Given the description of an element on the screen output the (x, y) to click on. 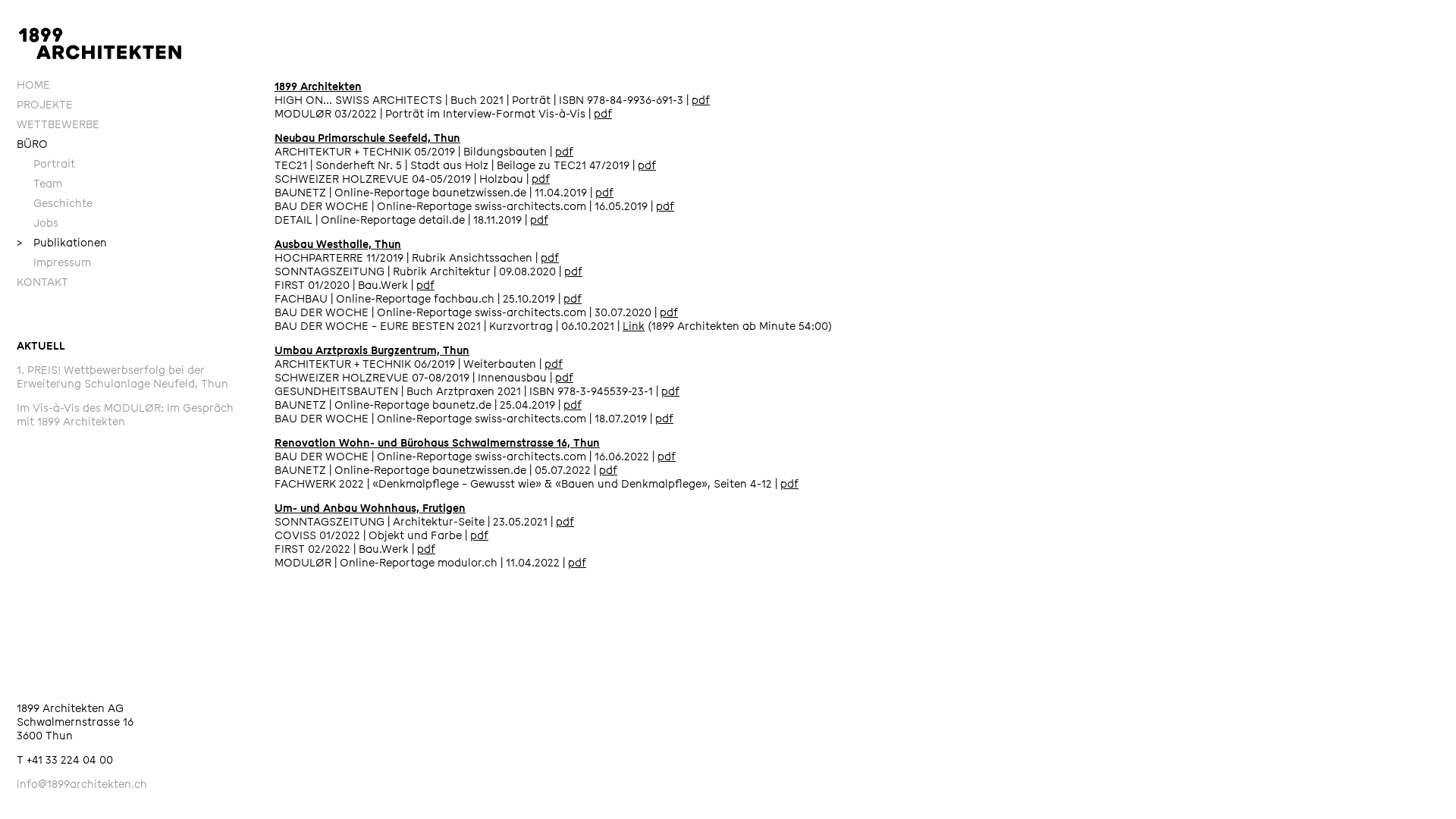
pdf Element type: text (666, 456)
info@1899architekten.ch Element type: text (81, 784)
Team Element type: text (137, 184)
pdf Element type: text (539, 219)
pdf Element type: text (540, 178)
pdf Element type: text (479, 535)
KONTAKT Element type: text (129, 282)
HOME Element type: text (129, 85)
Neubau Primarschule Seefeld, Thun Element type: text (367, 137)
1899 Architekten Element type: text (317, 86)
Geschichte Element type: text (137, 203)
pdf Element type: text (564, 377)
pdf Element type: text (426, 548)
pdf Element type: text (564, 151)
Umbau Arztpraxis Burgzentrum, Thun Element type: text (371, 350)
Portrait Element type: text (137, 164)
pdf Element type: text (572, 404)
pdf Element type: text (576, 562)
pdf Element type: text (553, 363)
pdf Element type: text (564, 521)
Impressum Element type: text (137, 262)
Link Element type: text (633, 326)
pdf Element type: text (608, 470)
Publikationen Element type: text (137, 243)
pdf Element type: text (700, 100)
pdf Element type: text (670, 391)
pdf Element type: text (789, 483)
pdf Element type: text (664, 206)
pdf Element type: text (604, 192)
Jobs Element type: text (137, 223)
PROJEKTE Element type: text (129, 105)
pdf Element type: text (646, 165)
WETTBEWERBE Element type: text (129, 124)
1899architekten.ch Element type: hover (99, 43)
pdf Element type: text (573, 271)
pdf Element type: text (572, 298)
pdf Element type: text (602, 113)
pdf Element type: text (425, 285)
pdf Element type: text (668, 312)
pdf Element type: text (664, 418)
pdf Element type: text (549, 257)
Ausbau Westhalle, Thun Element type: text (337, 244)
Um- und Anbau Wohnhaus, Frutigen Element type: text (369, 508)
